Given the description of an element on the screen output the (x, y) to click on. 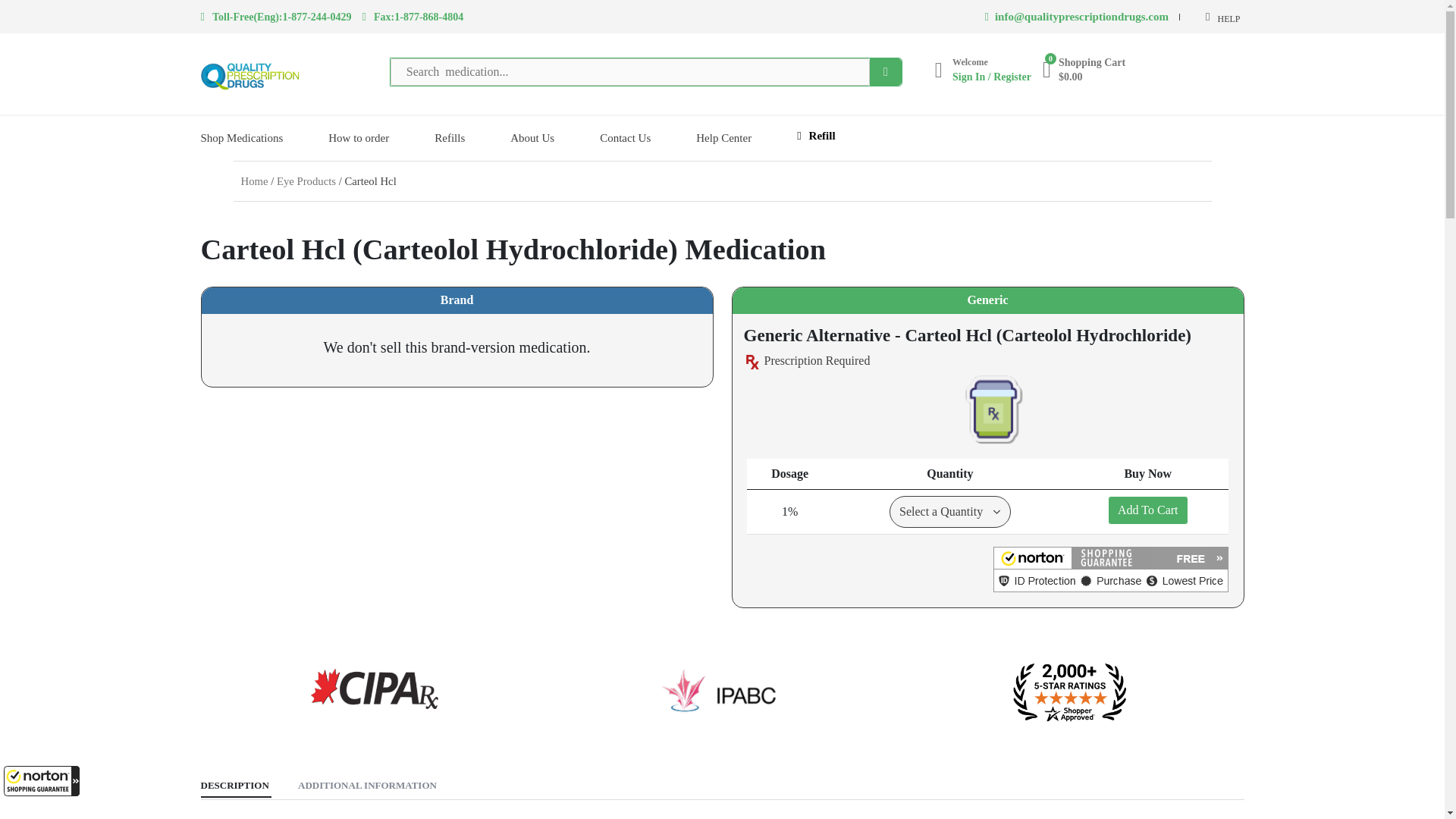
ADDITIONAL INFORMATION (367, 785)
Refills (448, 138)
How to order (358, 138)
Eye Products (306, 180)
Help Center (723, 138)
Shop Medications (241, 138)
HELP (1222, 17)
Fax:1-877-868-4804 (413, 17)
Contact Us (624, 138)
Unused iFrame 1 (42, 780)
About Us (532, 138)
Home (254, 180)
DESCRIPTION (233, 785)
Add To Cart (1148, 510)
Refill (815, 135)
